Given the description of an element on the screen output the (x, y) to click on. 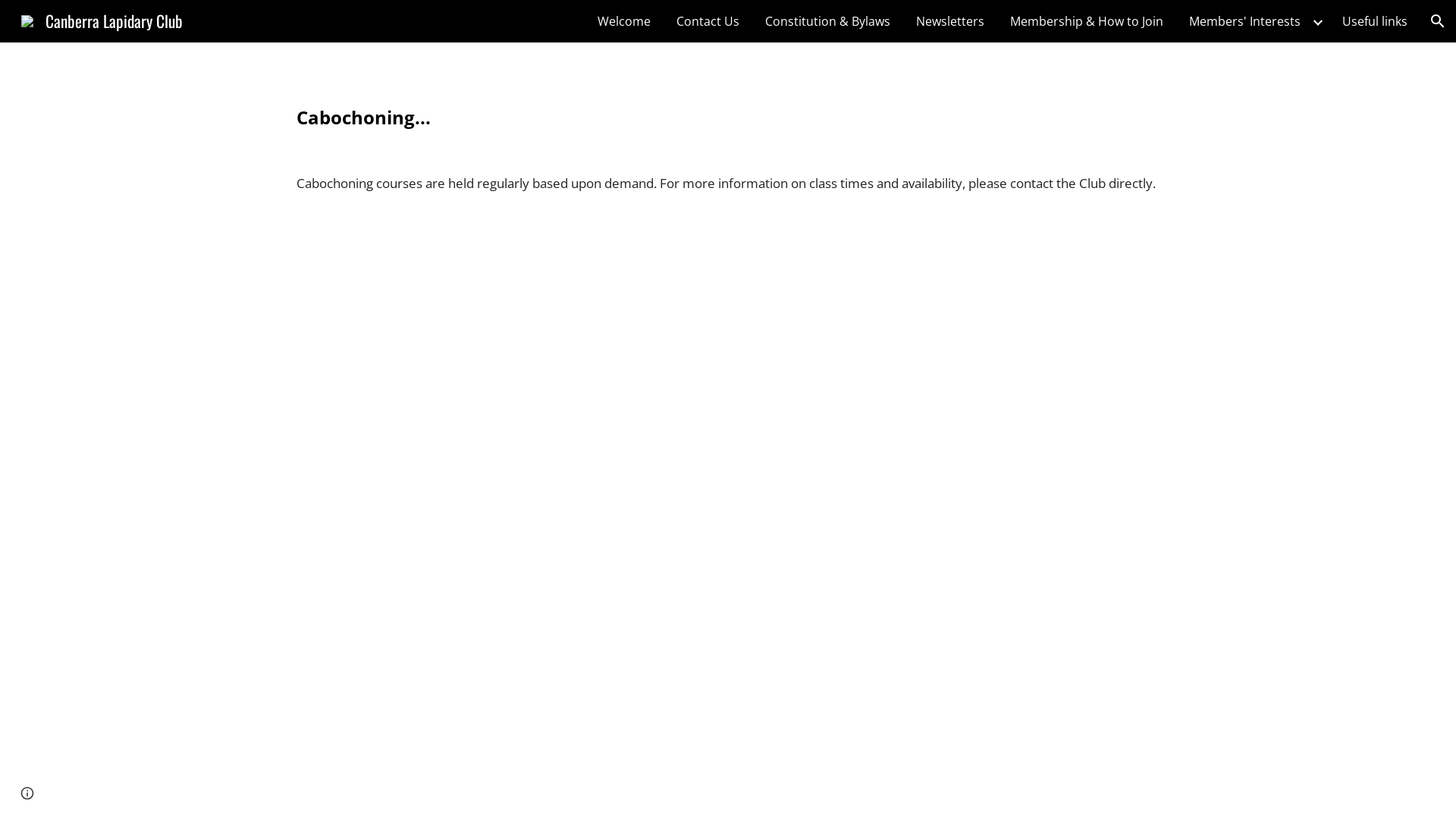
Contact Us Element type: text (707, 20)
Newsletters Element type: text (949, 20)
Members' Interests Element type: text (1244, 20)
Welcome Element type: text (623, 20)
Expand/Collapse Element type: hover (1317, 20)
Constitution & Bylaws Element type: text (827, 20)
Useful links Element type: text (1374, 20)
Membership & How to Join Element type: text (1086, 20)
Canberra Lapidary Club Element type: text (101, 18)
